Given the description of an element on the screen output the (x, y) to click on. 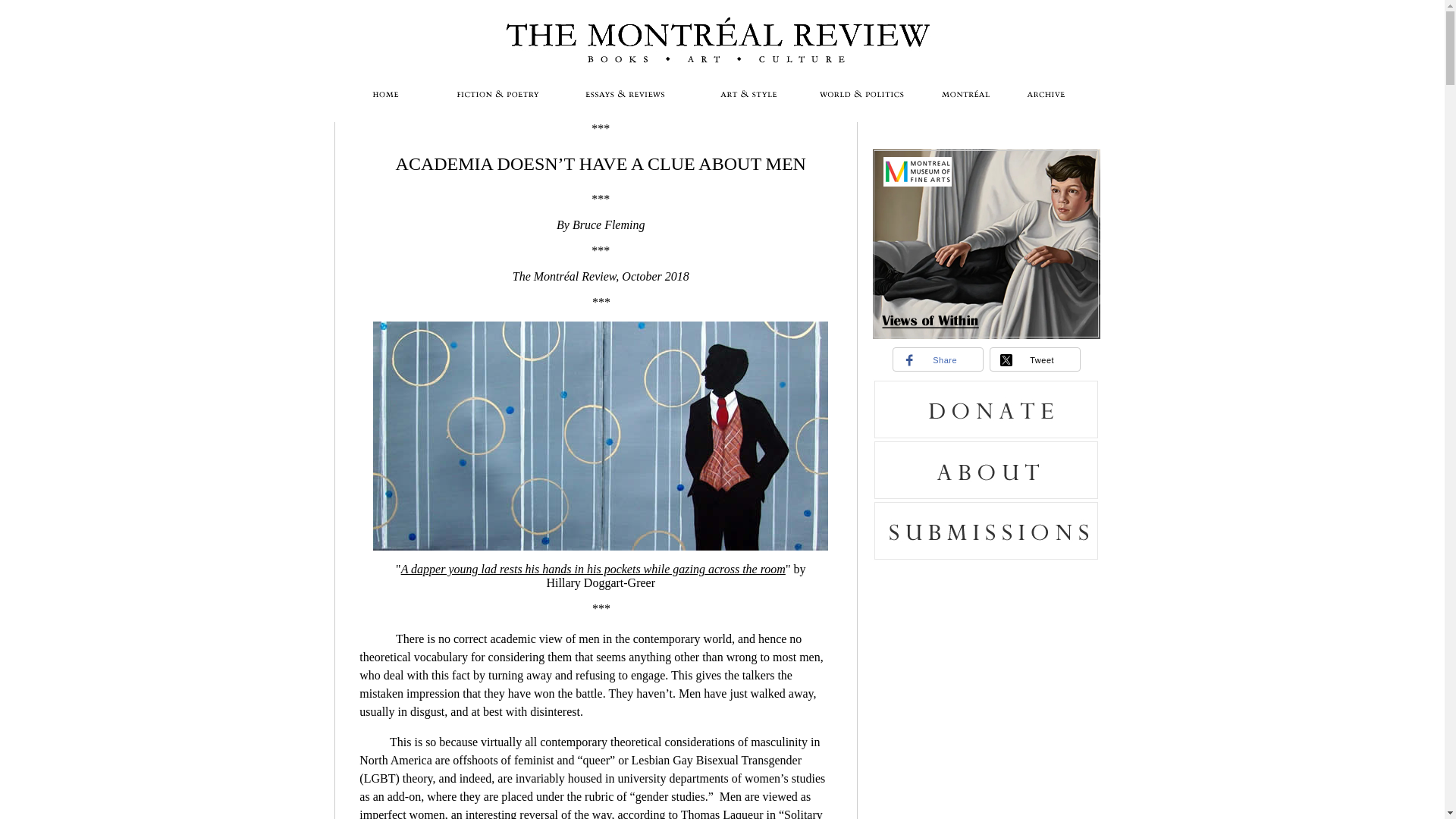
Subscription form (985, 690)
